Given the description of an element on the screen output the (x, y) to click on. 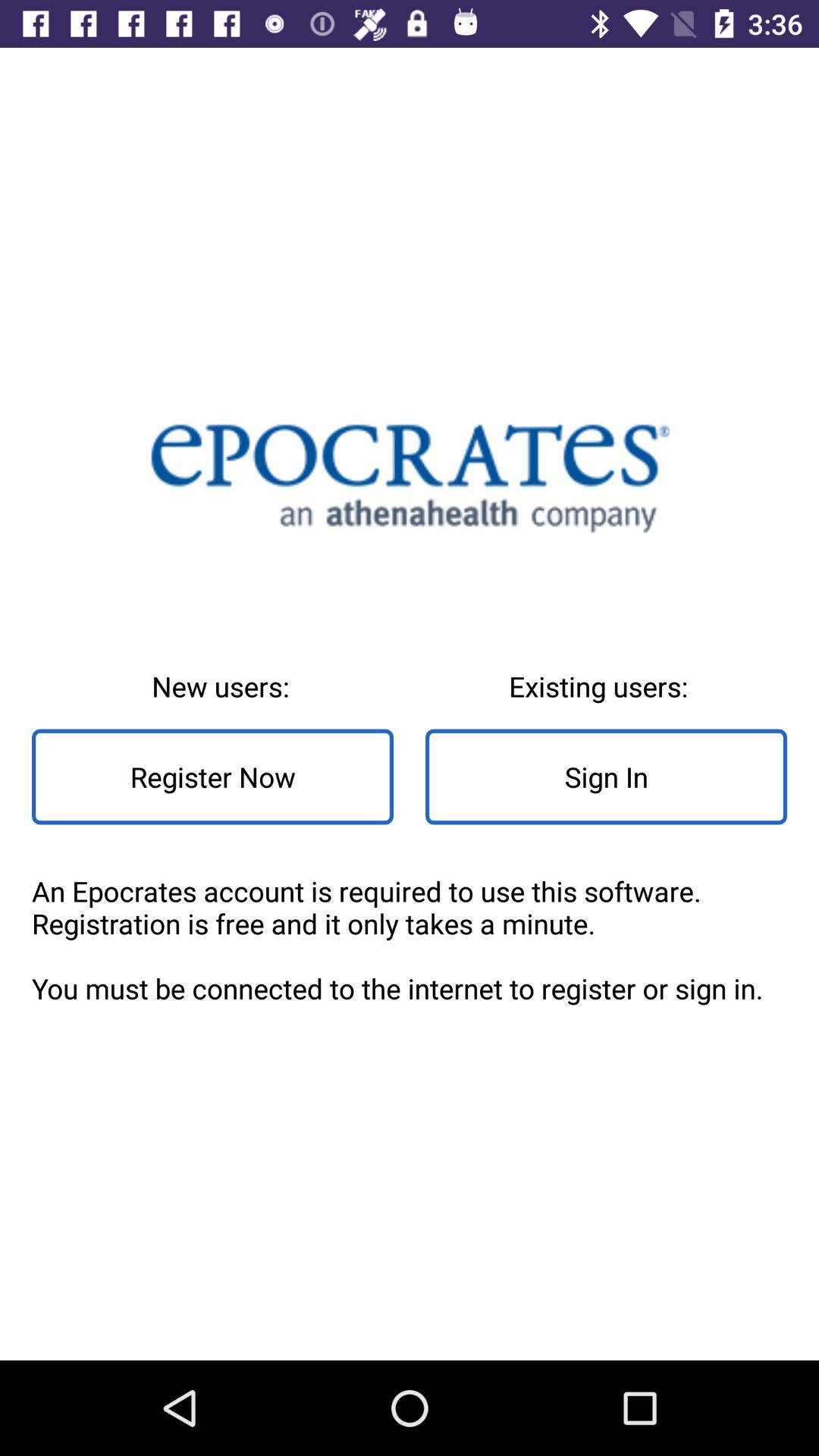
select register now icon (212, 776)
